Given the description of an element on the screen output the (x, y) to click on. 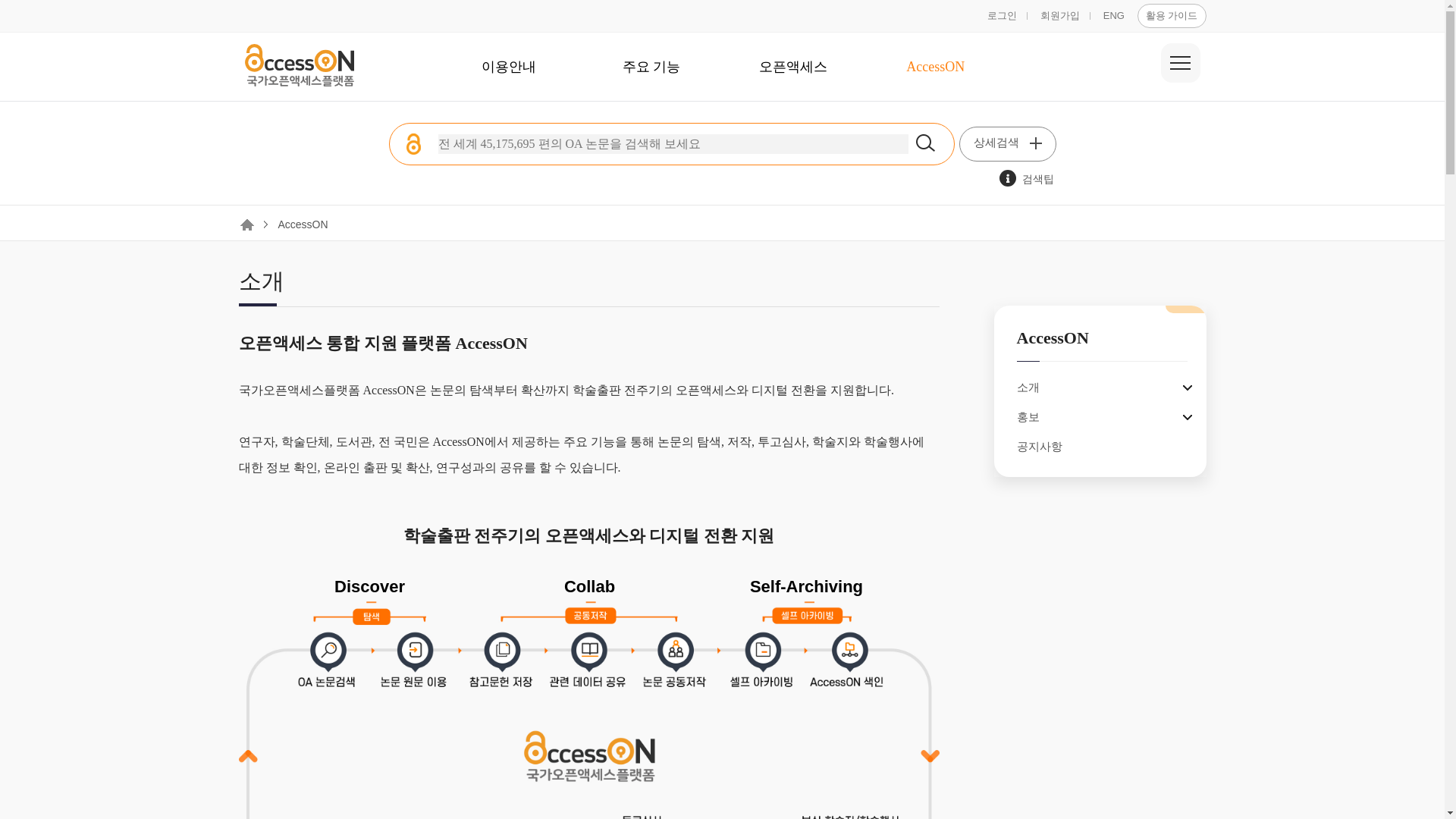
ENG (1113, 15)
AccessON (935, 66)
